Given the description of an element on the screen output the (x, y) to click on. 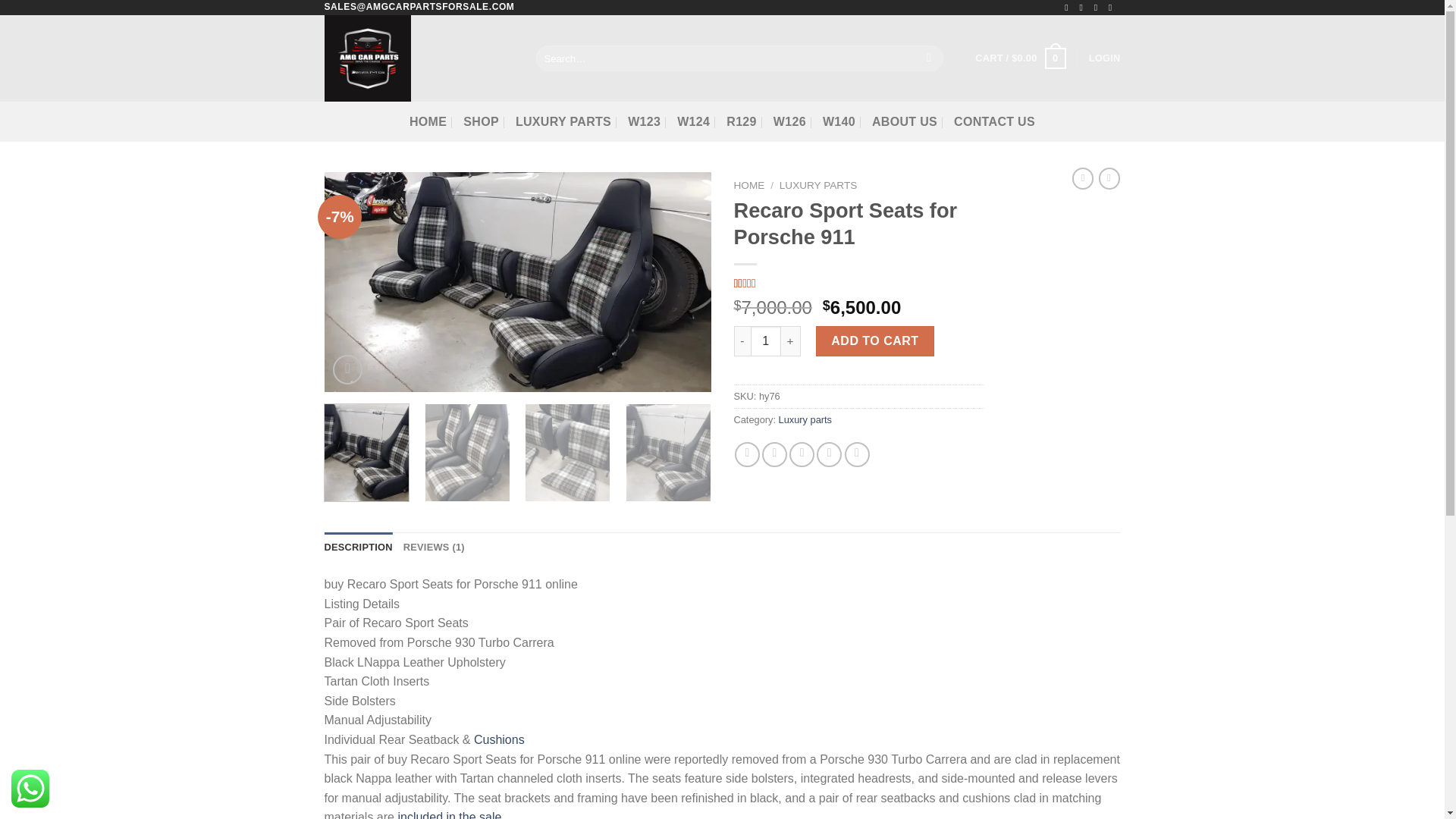
LUXURY PARTS (563, 121)
W140 (839, 121)
R129 (741, 121)
LOGIN (1105, 58)
CONTACT US (994, 121)
Qty (765, 340)
SHOP (481, 121)
Search (929, 58)
ABOUT US (904, 121)
buy Recaro Sport Seats for Porsche 911 online (517, 281)
W123 (644, 121)
W124 (693, 121)
- (742, 340)
1 (765, 340)
